Given the description of an element on the screen output the (x, y) to click on. 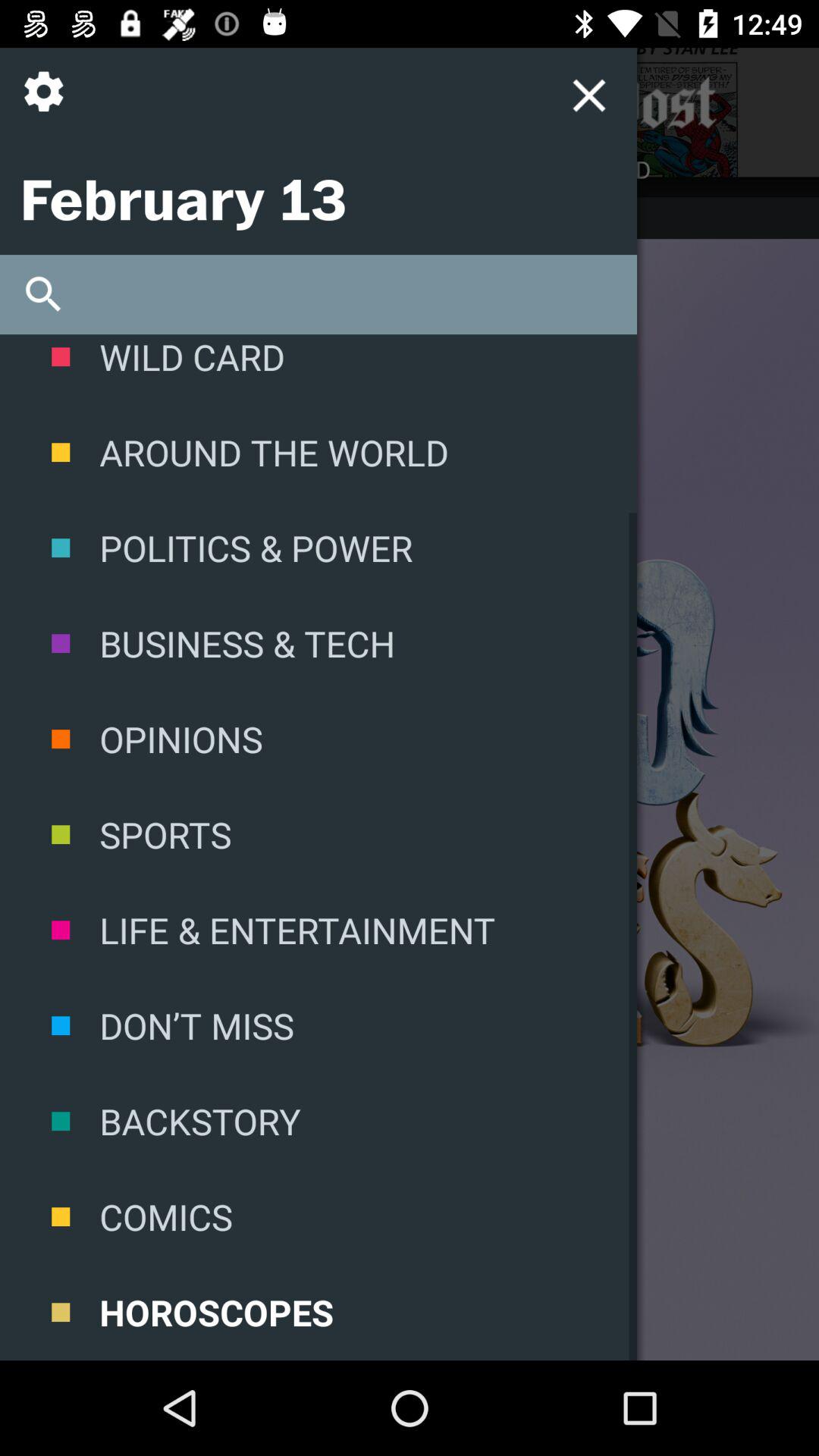
go to settings (49, 103)
